Given the description of an element on the screen output the (x, y) to click on. 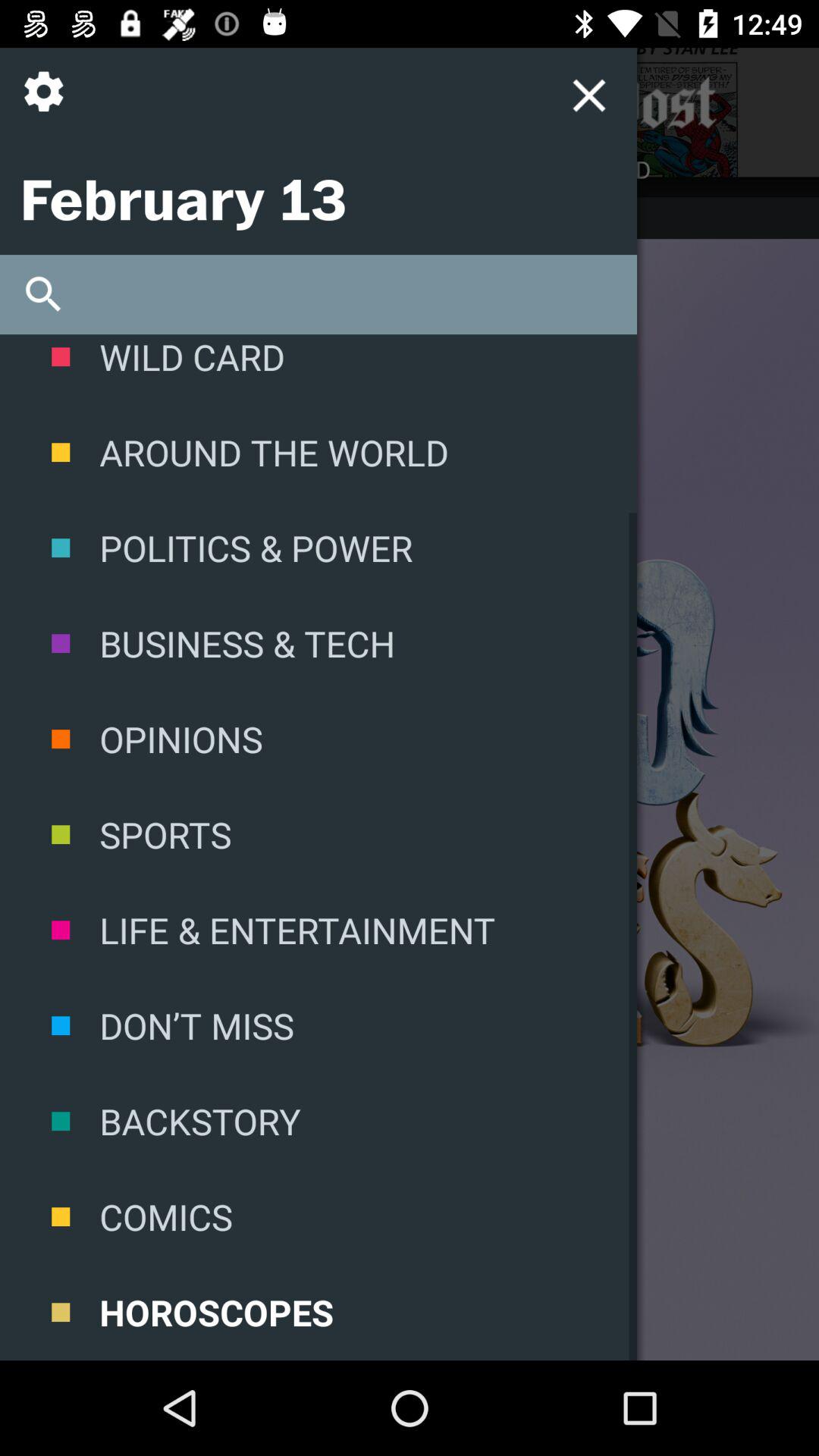
go to settings (49, 103)
